Given the description of an element on the screen output the (x, y) to click on. 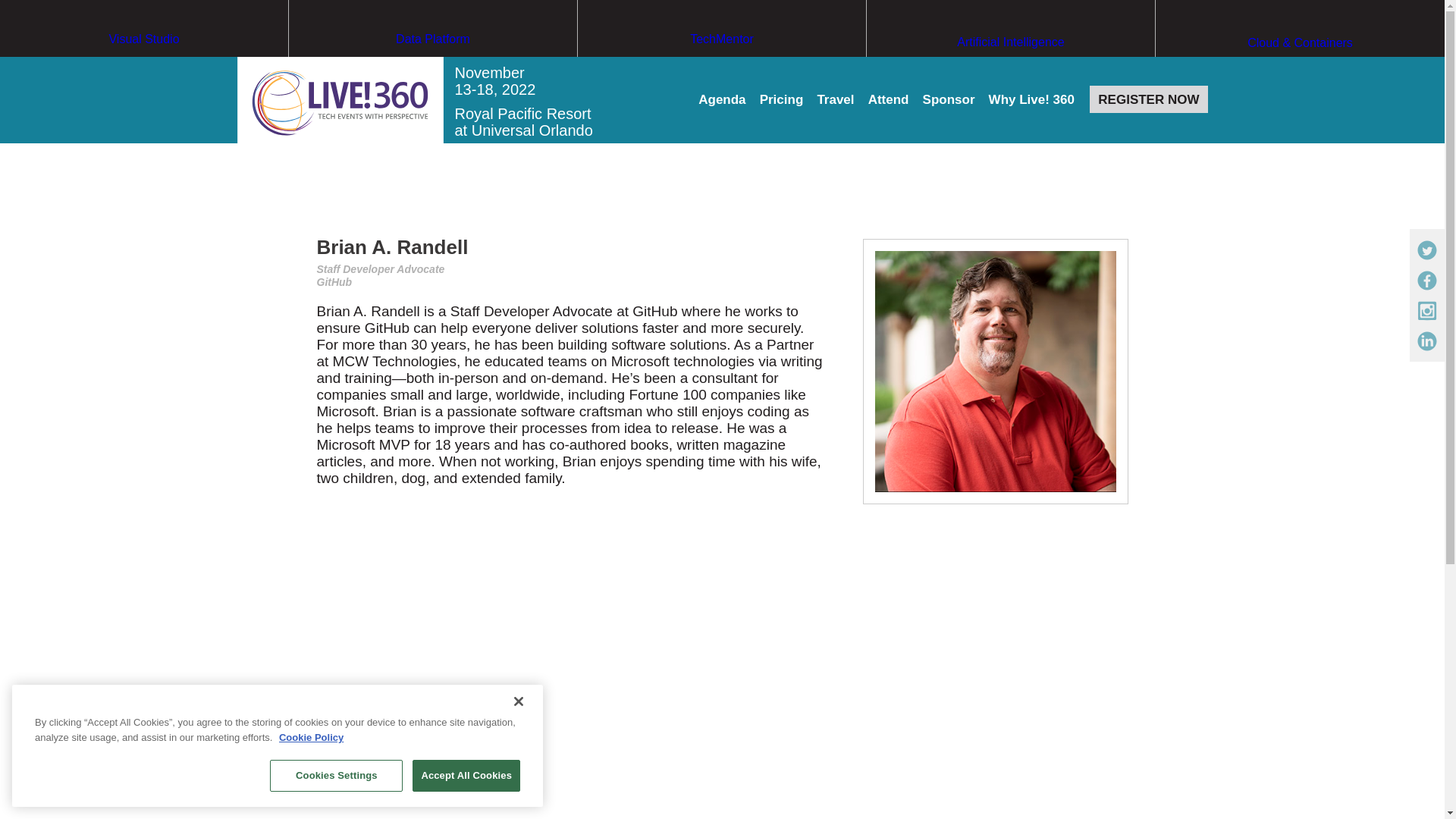
TechMentor (722, 67)
Live Chat Button (1414, 788)
Artificial Intelligence (1010, 70)
Attend (887, 99)
Visual Studio (144, 67)
Agenda (721, 99)
Data Platform (432, 67)
Travel (834, 99)
Pricing (781, 99)
Sponsor (949, 99)
